Given the description of an element on the screen output the (x, y) to click on. 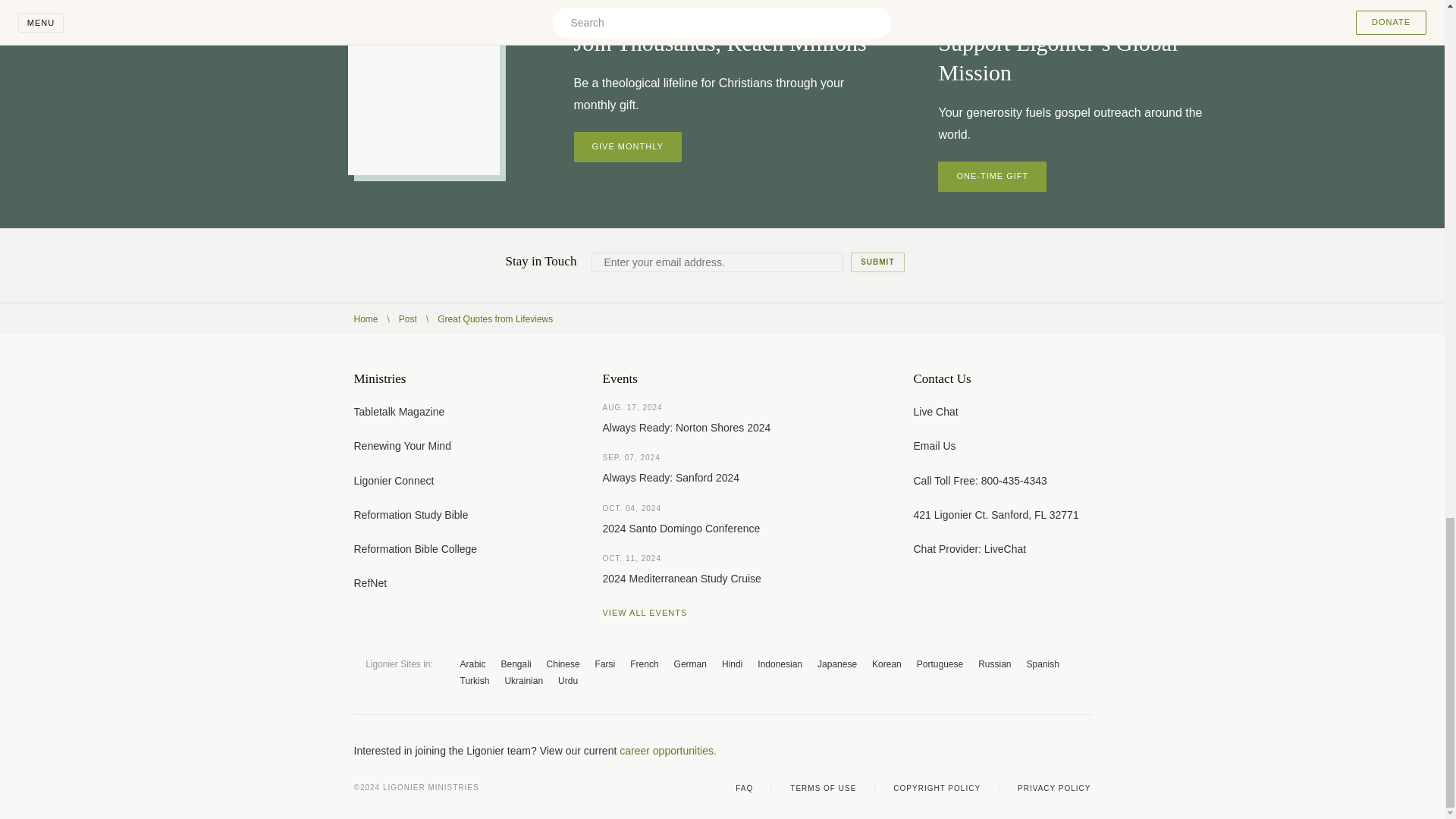
Linkedin (1083, 751)
YouTube (1023, 751)
Instagram (1053, 751)
X (993, 751)
Facebook (962, 751)
